Given the description of an element on the screen output the (x, y) to click on. 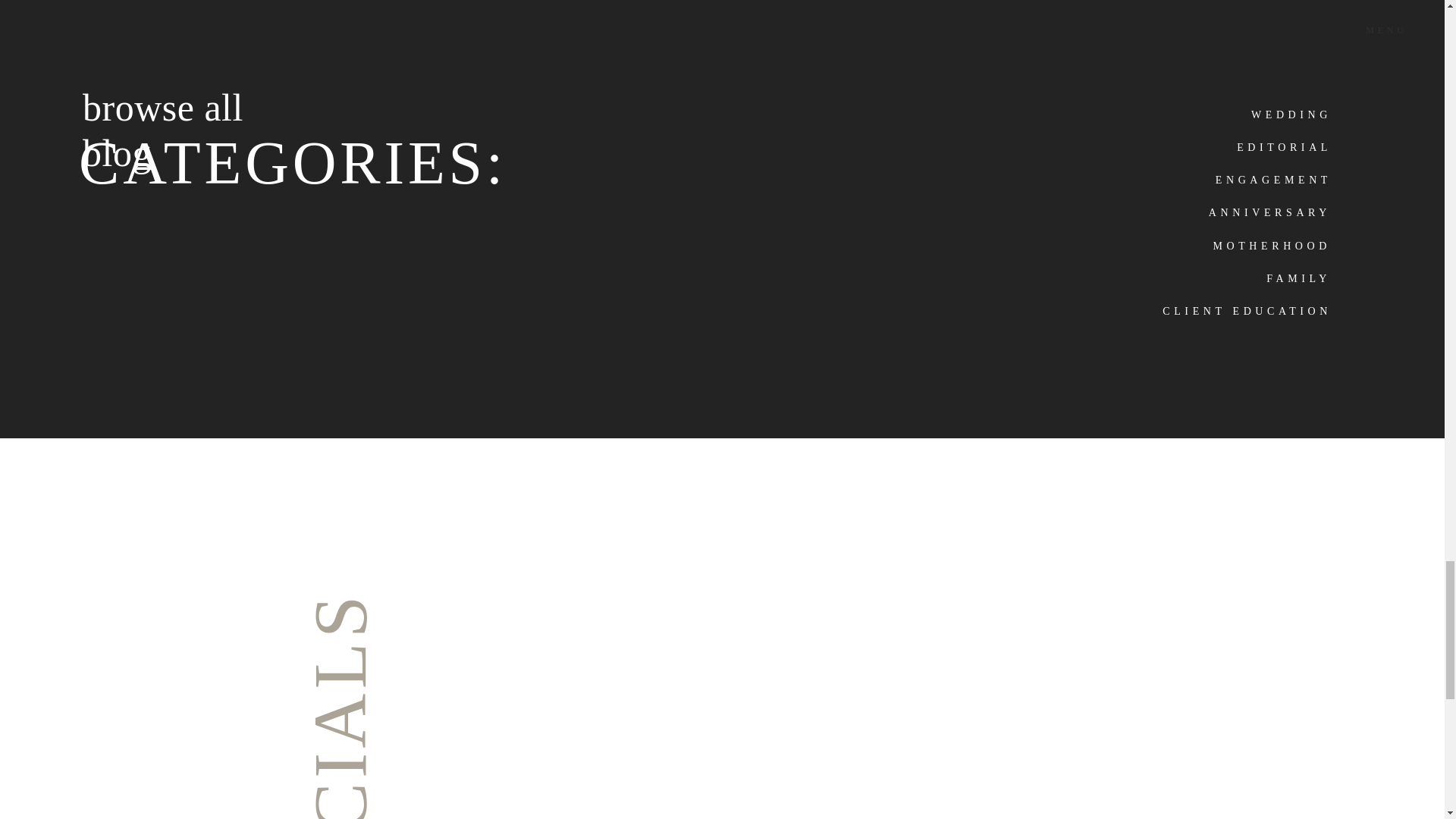
ANNIVERSARY (1250, 210)
EDITORIAL (1273, 145)
CLIENT EDUCATION (1243, 309)
MOTHERHOOD (1267, 243)
FAMILY (1267, 276)
WEDDING (1273, 112)
ENGAGEMENT (1268, 177)
